Given the description of an element on the screen output the (x, y) to click on. 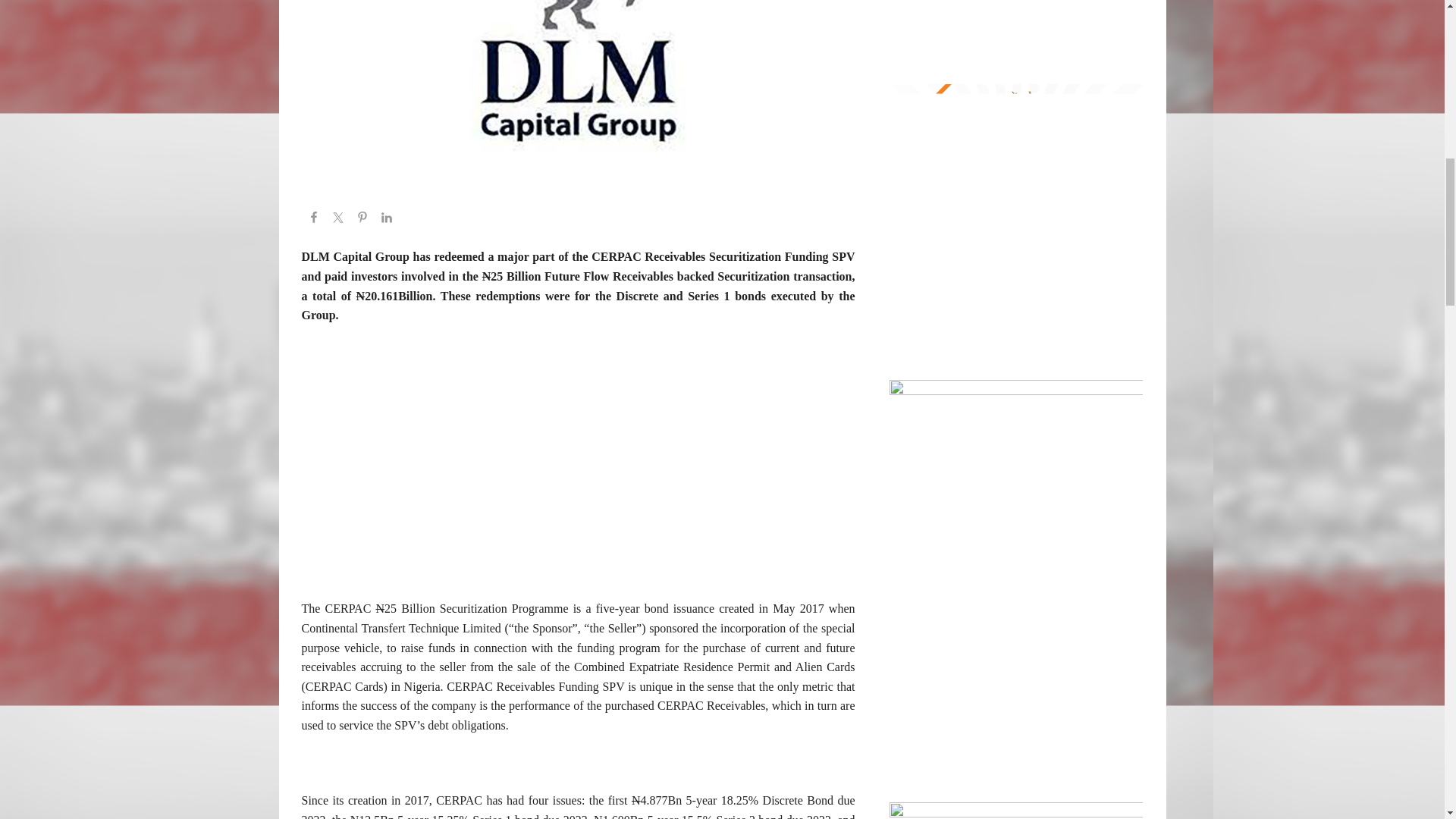
Share on LinkedIn (386, 219)
Share on Facebook (313, 219)
Share on Pinterest (362, 219)
Share on Twitter (338, 219)
